Given the description of an element on the screen output the (x, y) to click on. 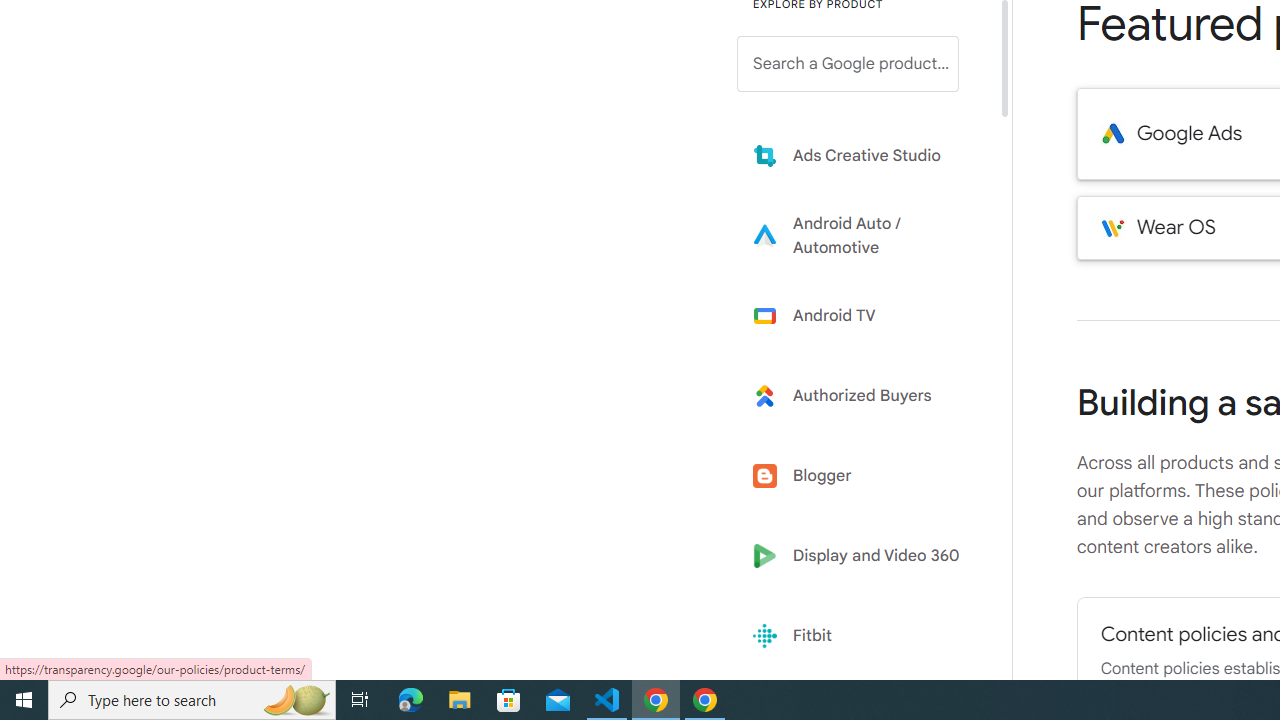
Learn more about Ads Creative Studio (862, 155)
Display and Video 360 (862, 556)
Fitbit (862, 636)
Learn more about Authorized Buyers (862, 395)
Display and Video 360 (862, 556)
Learn more about Android TV (862, 315)
Learn more about Android Auto (862, 235)
Fitbit (862, 636)
Search a Google product from below list. (847, 64)
Blogger (862, 476)
Learn more about Authorized Buyers (862, 395)
Blogger (862, 476)
Learn more about Android TV (862, 315)
Learn more about Ads Creative Studio (862, 155)
Learn more about Android Auto (862, 235)
